Given the description of an element on the screen output the (x, y) to click on. 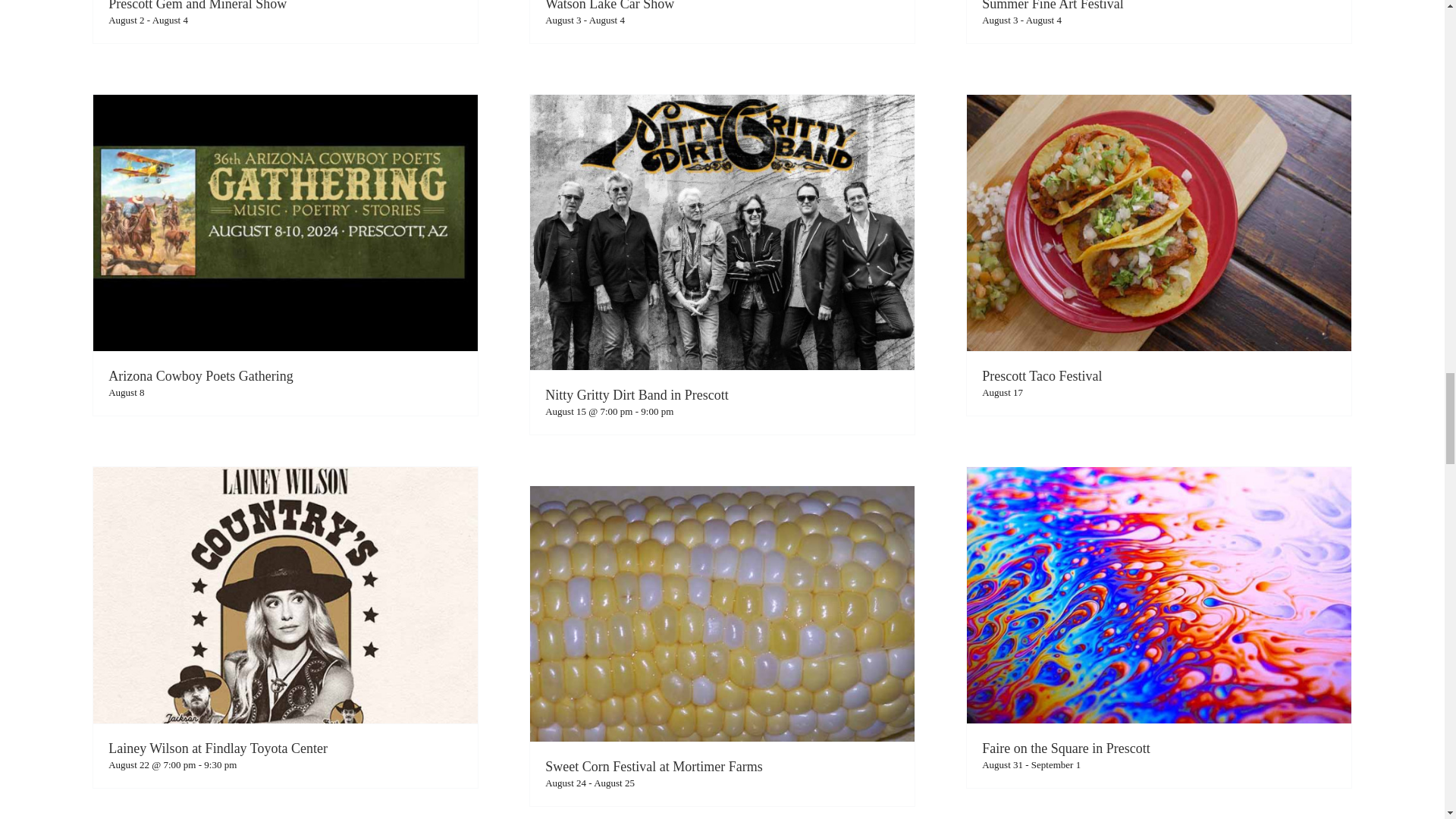
Prescott Gem and Mineral Show (196, 5)
Watson Lake Car Show (609, 5)
Summer Fine Art Festival (1052, 5)
